Given the description of an element on the screen output the (x, y) to click on. 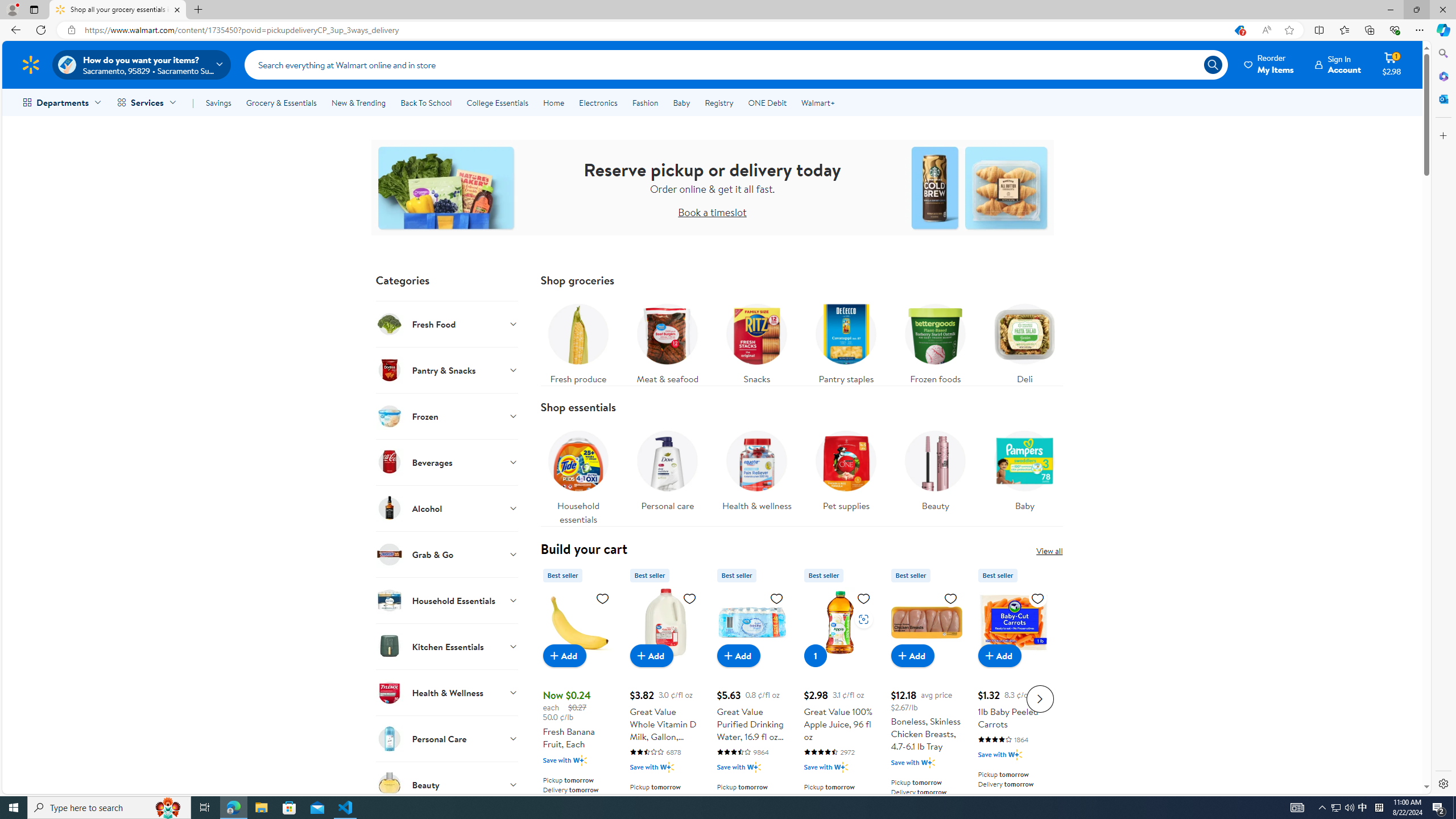
Personal Care (446, 738)
Beauty (935, 473)
Pet supplies (845, 467)
Registry (718, 102)
Walmart Plus (1015, 754)
Pantry staples (845, 340)
Fresh produce (577, 340)
